Given the description of an element on the screen output the (x, y) to click on. 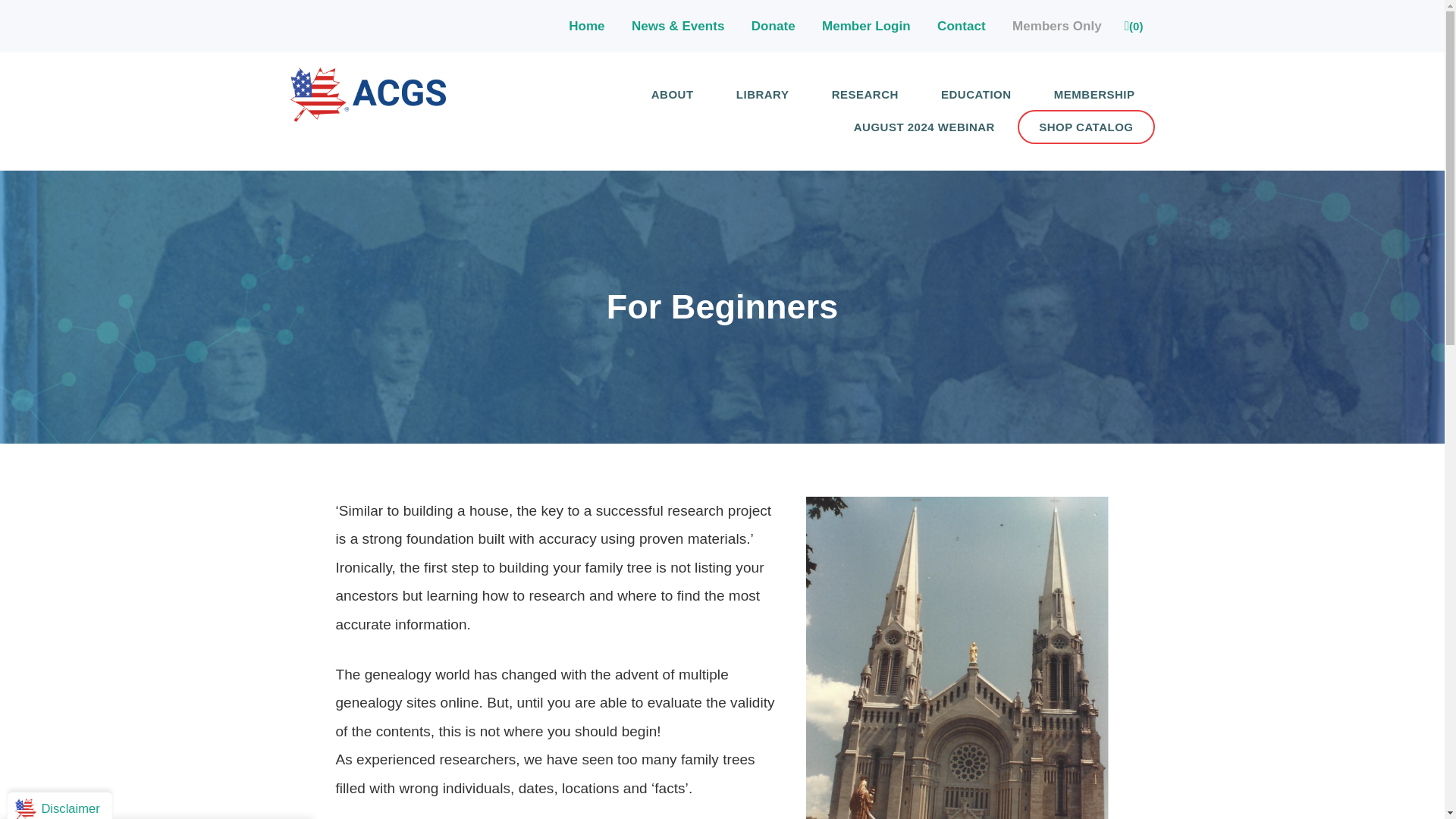
RESEARCH (865, 93)
Member Login (865, 25)
Contact (961, 25)
Home (586, 25)
LIBRARY (762, 93)
Donate (772, 25)
View your shopping cart (1133, 25)
ABOUT (672, 93)
Members Only (1057, 25)
TI (367, 116)
